Given the description of an element on the screen output the (x, y) to click on. 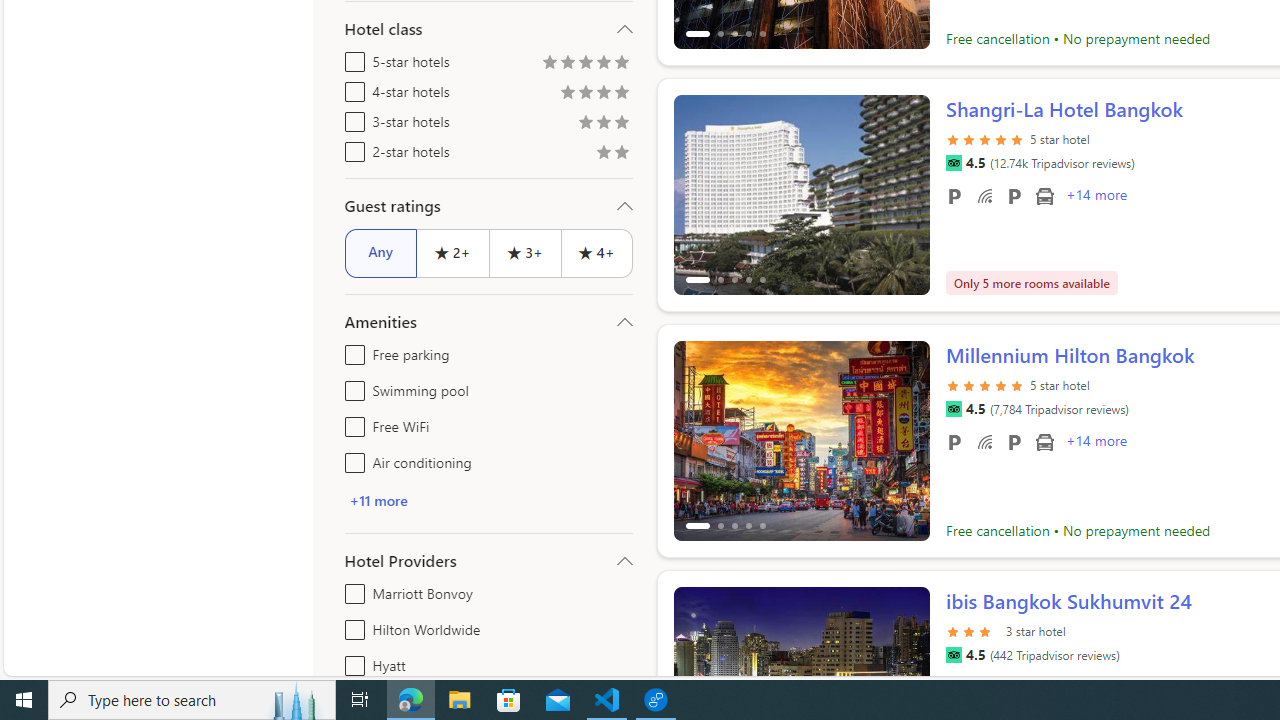
Rating (621, 154)
